Given the description of an element on the screen output the (x, y) to click on. 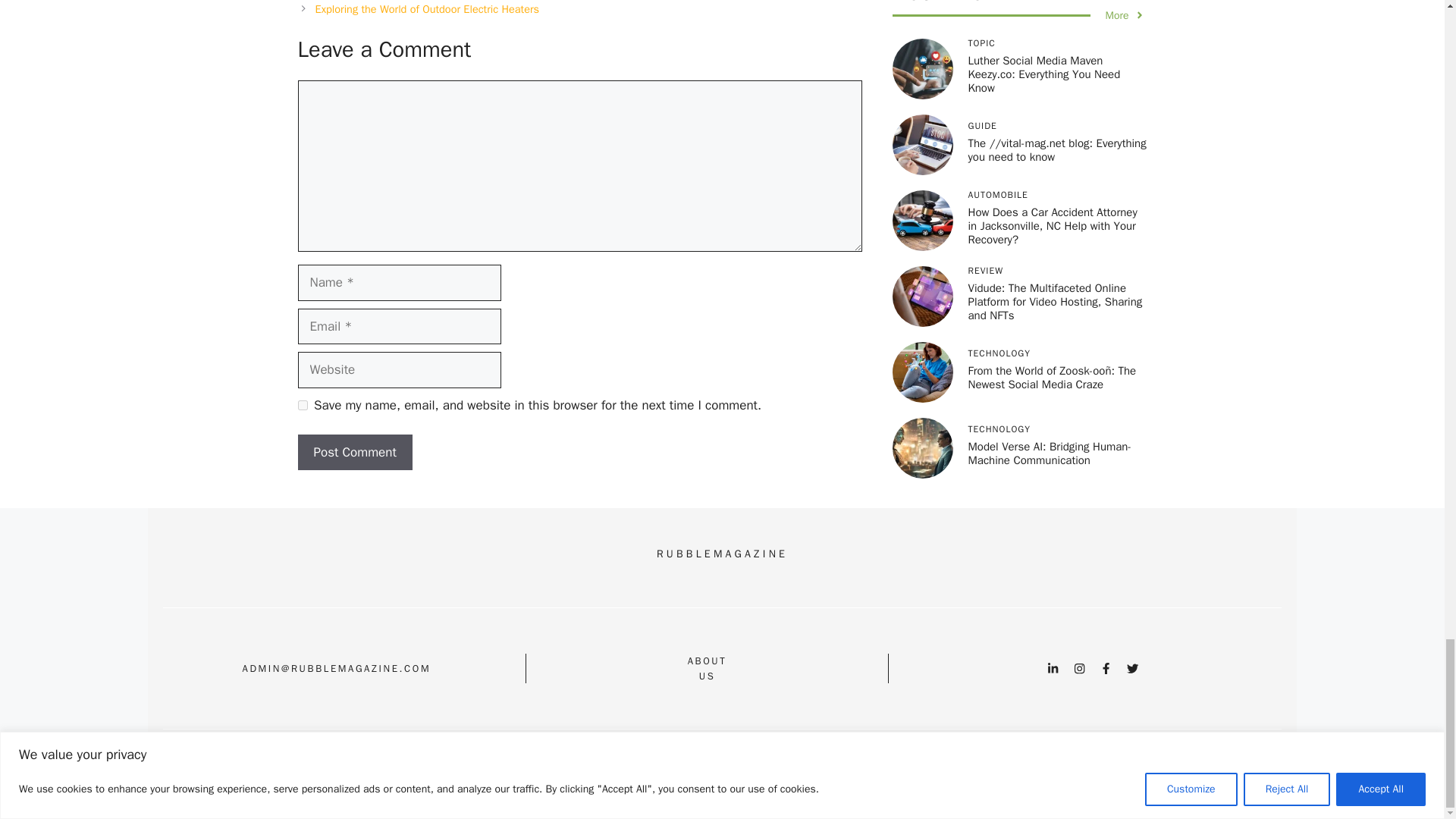
yes (302, 405)
Post Comment (354, 452)
